Given the description of an element on the screen output the (x, y) to click on. 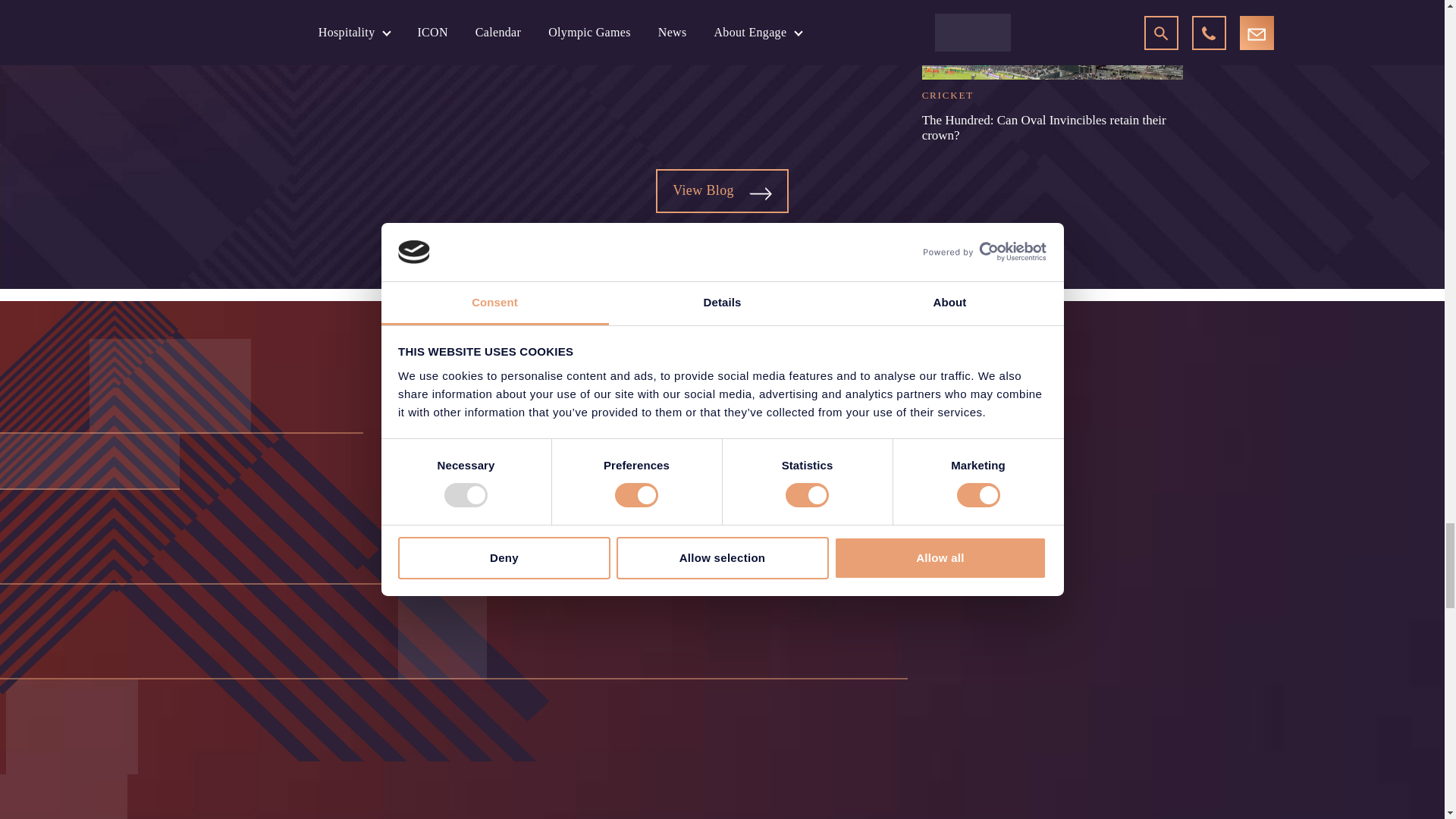
Blog Page (760, 193)
